Given the description of an element on the screen output the (x, y) to click on. 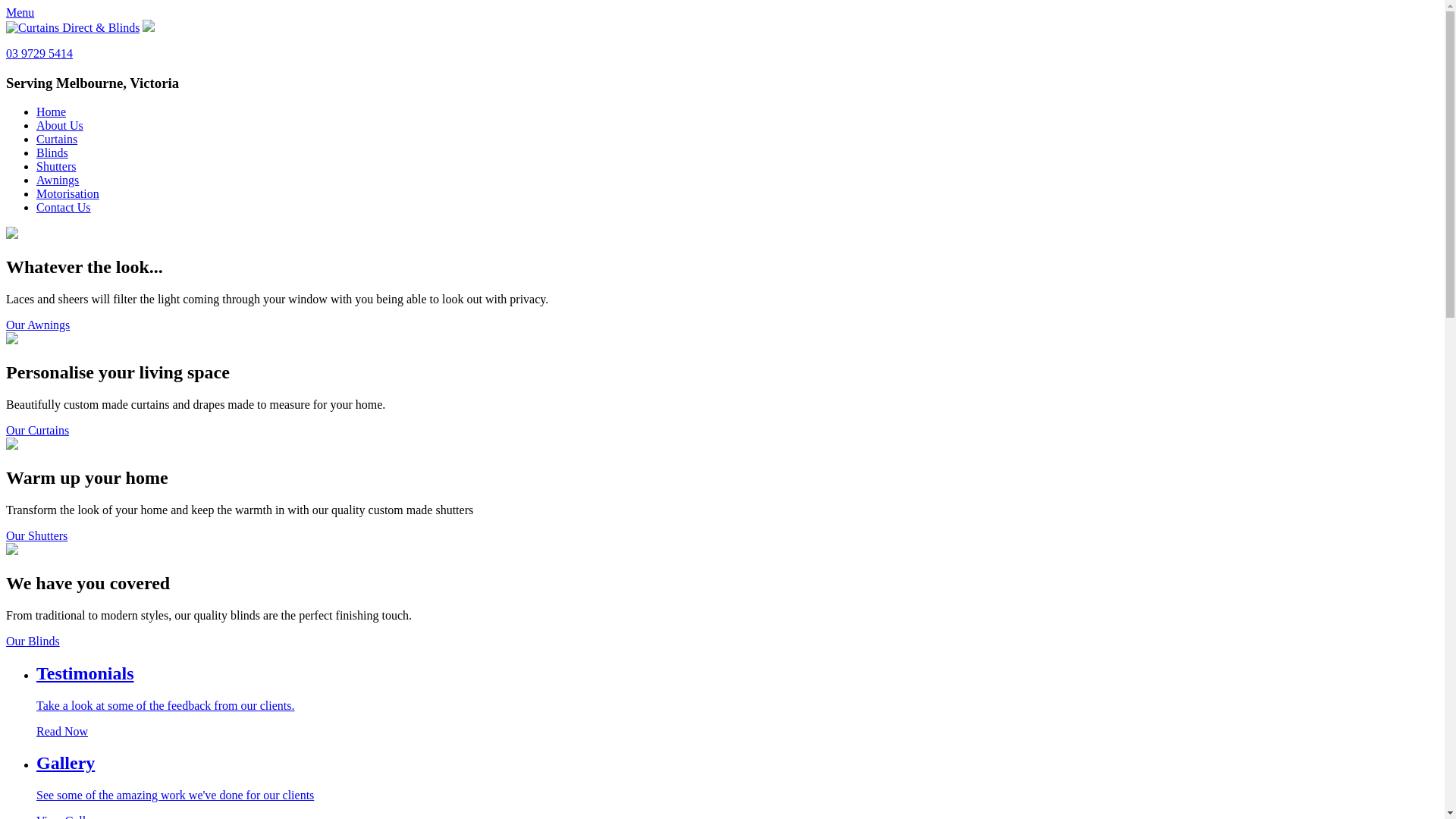
Awnings Element type: text (57, 179)
03 9729 5414 Element type: text (39, 53)
Our Awnings Element type: text (37, 324)
Shutters Element type: text (55, 166)
Our Blinds Element type: text (32, 640)
About Us Element type: text (59, 125)
Menu Element type: text (20, 12)
Blinds Element type: text (52, 152)
Contact Us Element type: text (63, 206)
Curtains Element type: text (56, 138)
Home Element type: text (50, 111)
Our Shutters Element type: text (36, 535)
Curtains Direct & Blinds Element type: hover (72, 27)
Our Curtains Element type: text (37, 429)
Motorisation Element type: text (67, 193)
